Given the description of an element on the screen output the (x, y) to click on. 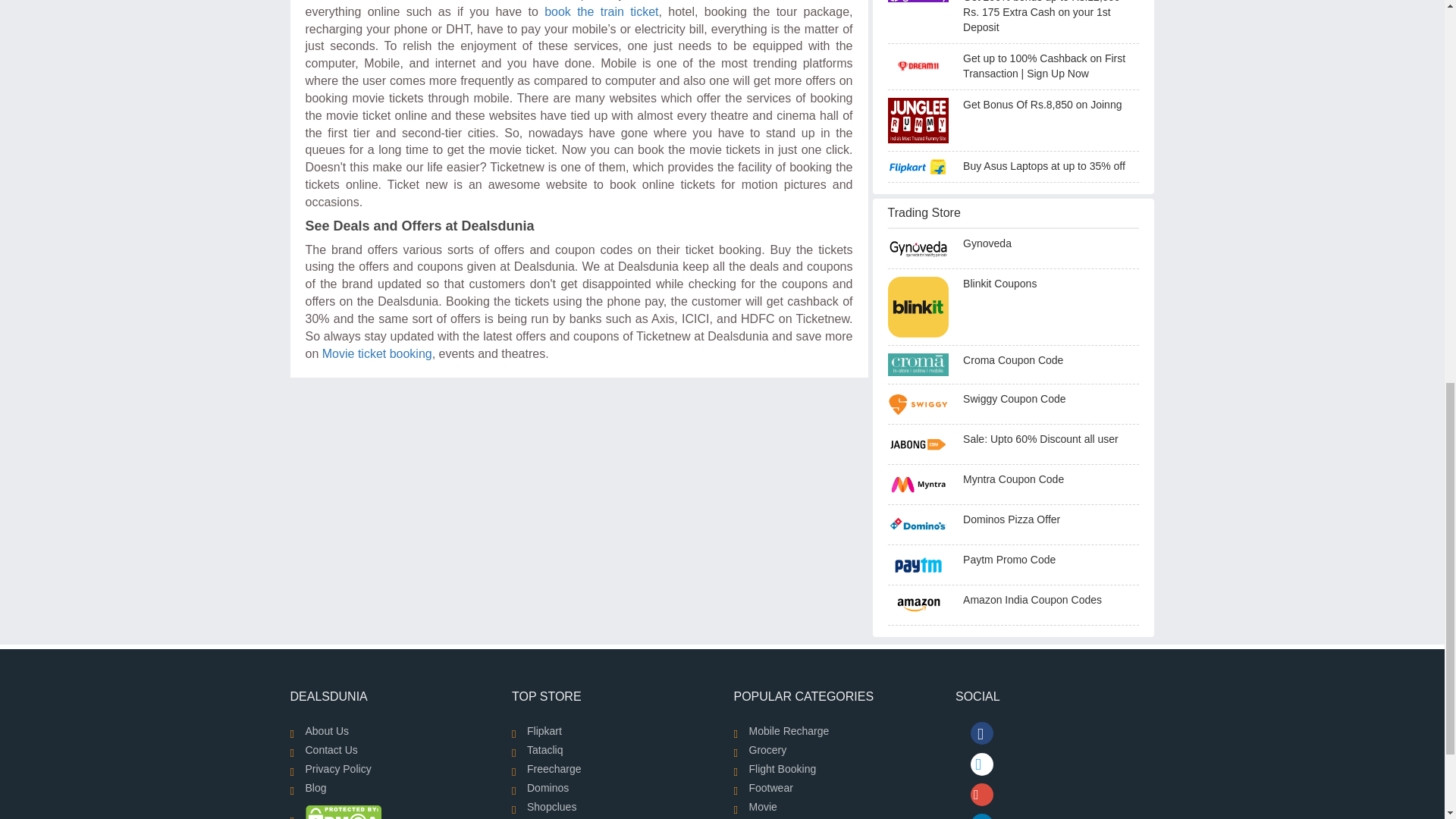
Get Bonus Of Rs.8,850 on Joinng (924, 120)
